Given the description of an element on the screen output the (x, y) to click on. 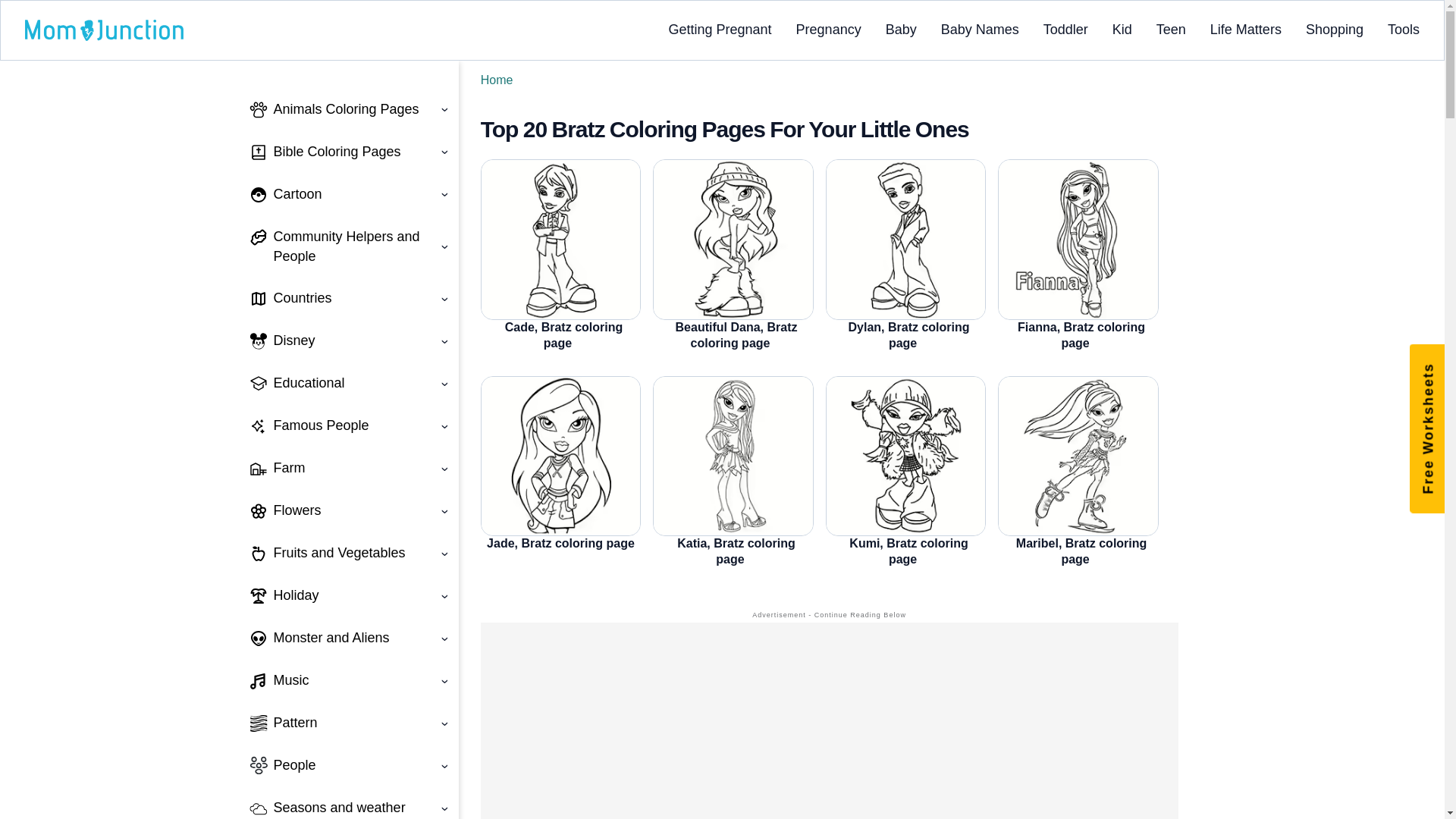
Beautiful Dana, Bratz coloring page (732, 239)
Katia, Bratz coloring page (732, 456)
Pregnancy (828, 29)
Baby Names (979, 29)
Kumi, Bratz coloring page (906, 456)
Getting Pregnant (719, 29)
Maribel, Bratz coloring page (1077, 456)
Dylan, Bratz coloring page (906, 239)
Toddler (1065, 29)
Cade, Bratz coloring page (561, 239)
